Given the description of an element on the screen output the (x, y) to click on. 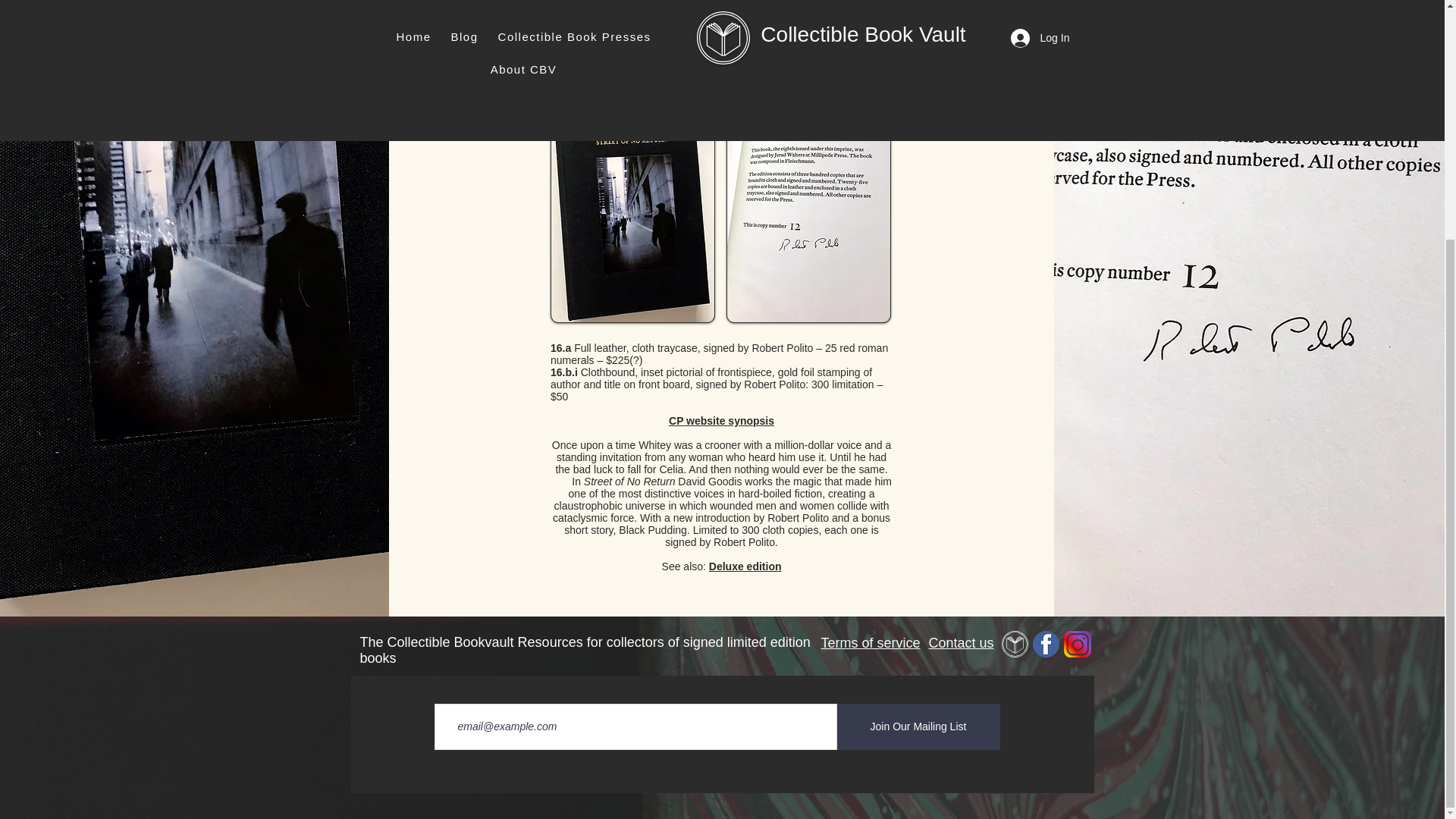
CP website synopsis (721, 420)
Deluxe edition (745, 566)
Street of No Return (808, 208)
Street of No Return (632, 208)
png-clipart-discord-computer-servers-tea (1076, 643)
Contact us (960, 642)
Join Our Mailing List (918, 726)
Terms of service (870, 642)
1260673-removebg-preview.png (1045, 643)
